Given the description of an element on the screen output the (x, y) to click on. 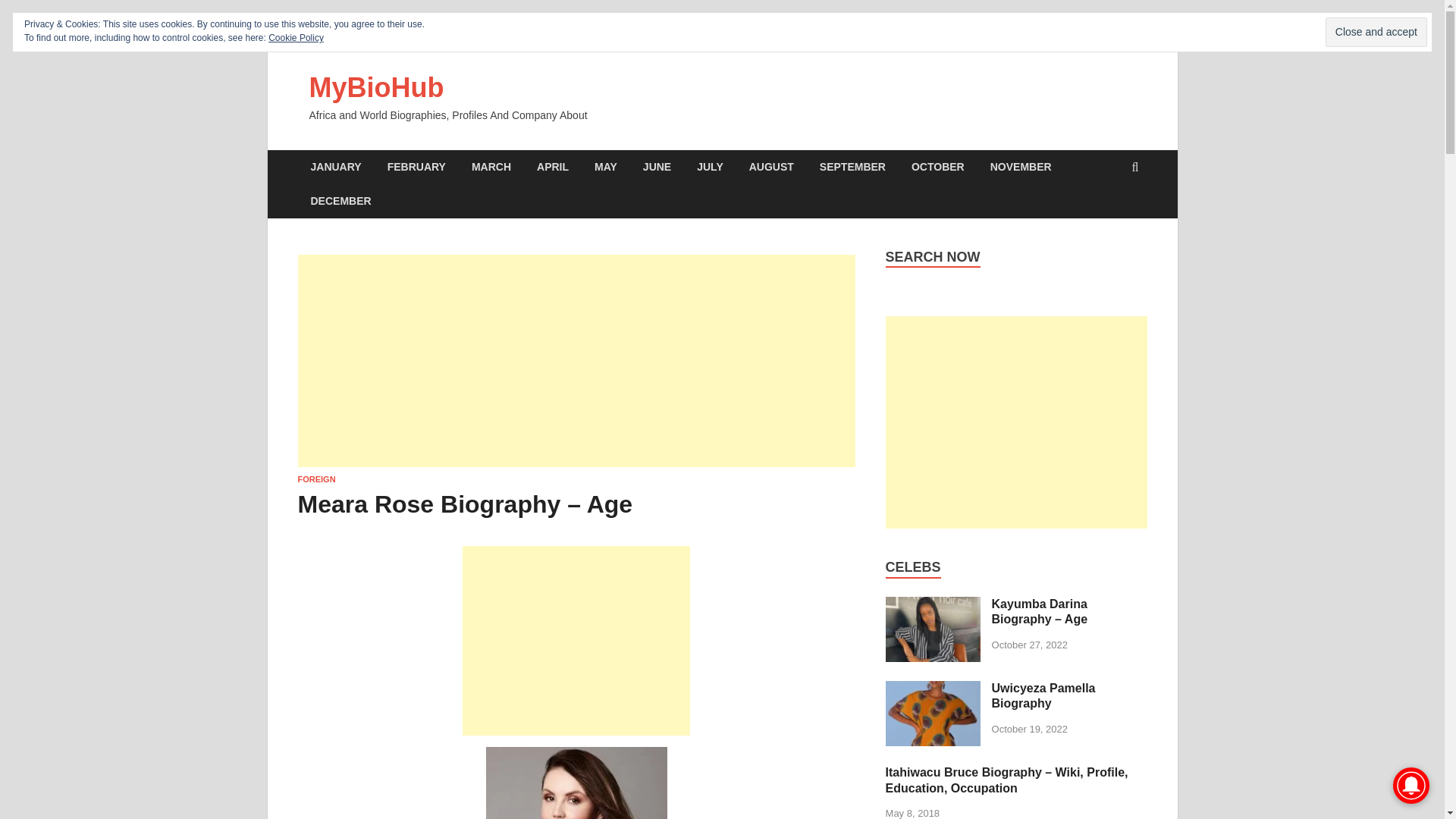
APRIL (552, 166)
Close and accept (1375, 31)
AUGUST (771, 166)
Advertisement (576, 640)
Submit Your Biography (499, 35)
JULY (710, 166)
JANUARY (335, 166)
Mesothelioma (909, 35)
MARCH (491, 166)
Privacy Policy (840, 35)
